Given the description of an element on the screen output the (x, y) to click on. 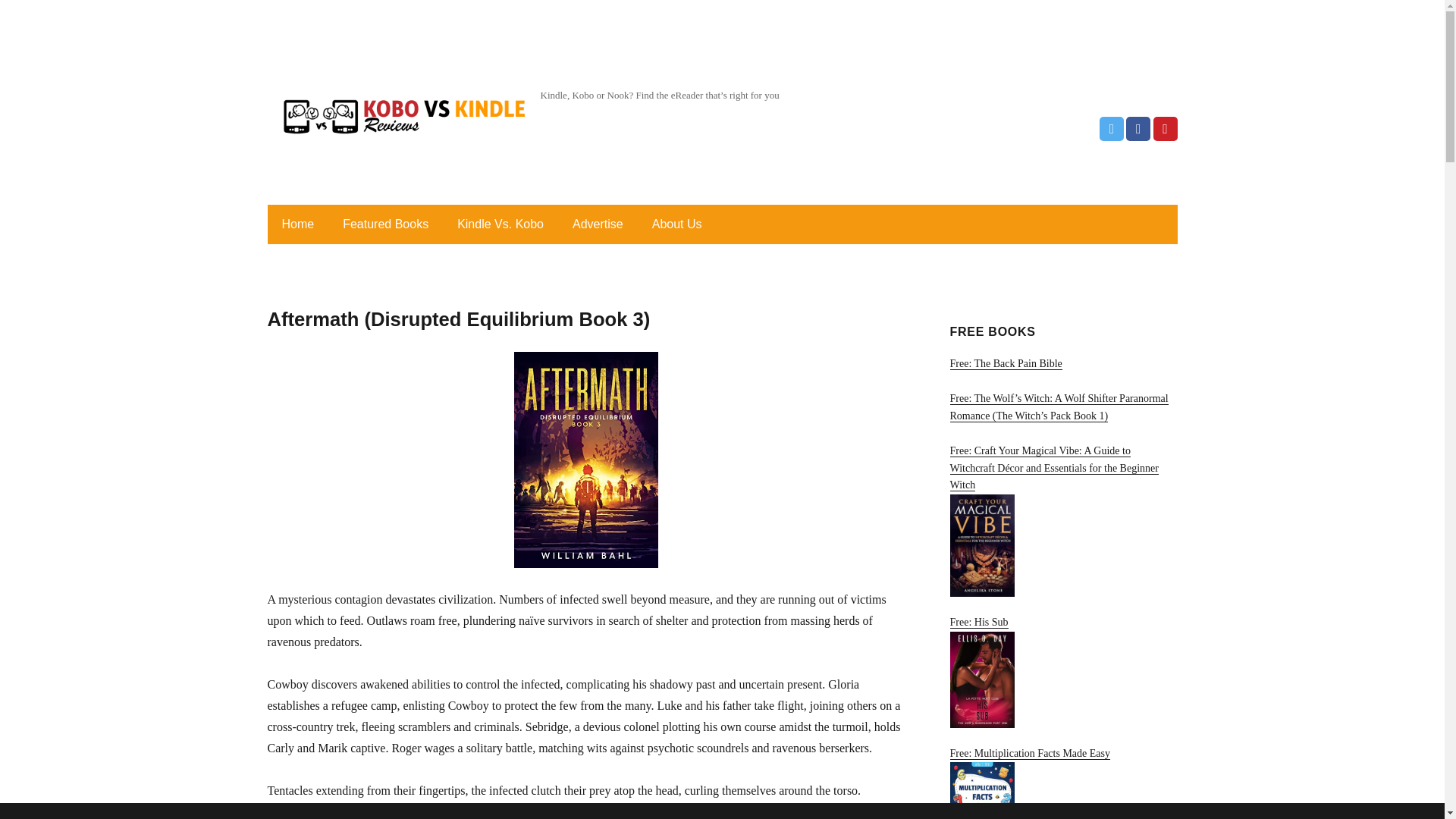
Pinterest (1164, 128)
Free: Multiplication Facts Made Easy (1062, 783)
Home (297, 224)
Twitter (1111, 128)
About Us (677, 224)
Featured Books (385, 224)
Advertise (597, 224)
Free: His Sub (1062, 672)
Kindle Vs. Kobo (500, 224)
Facebook (1137, 128)
